Given the description of an element on the screen output the (x, y) to click on. 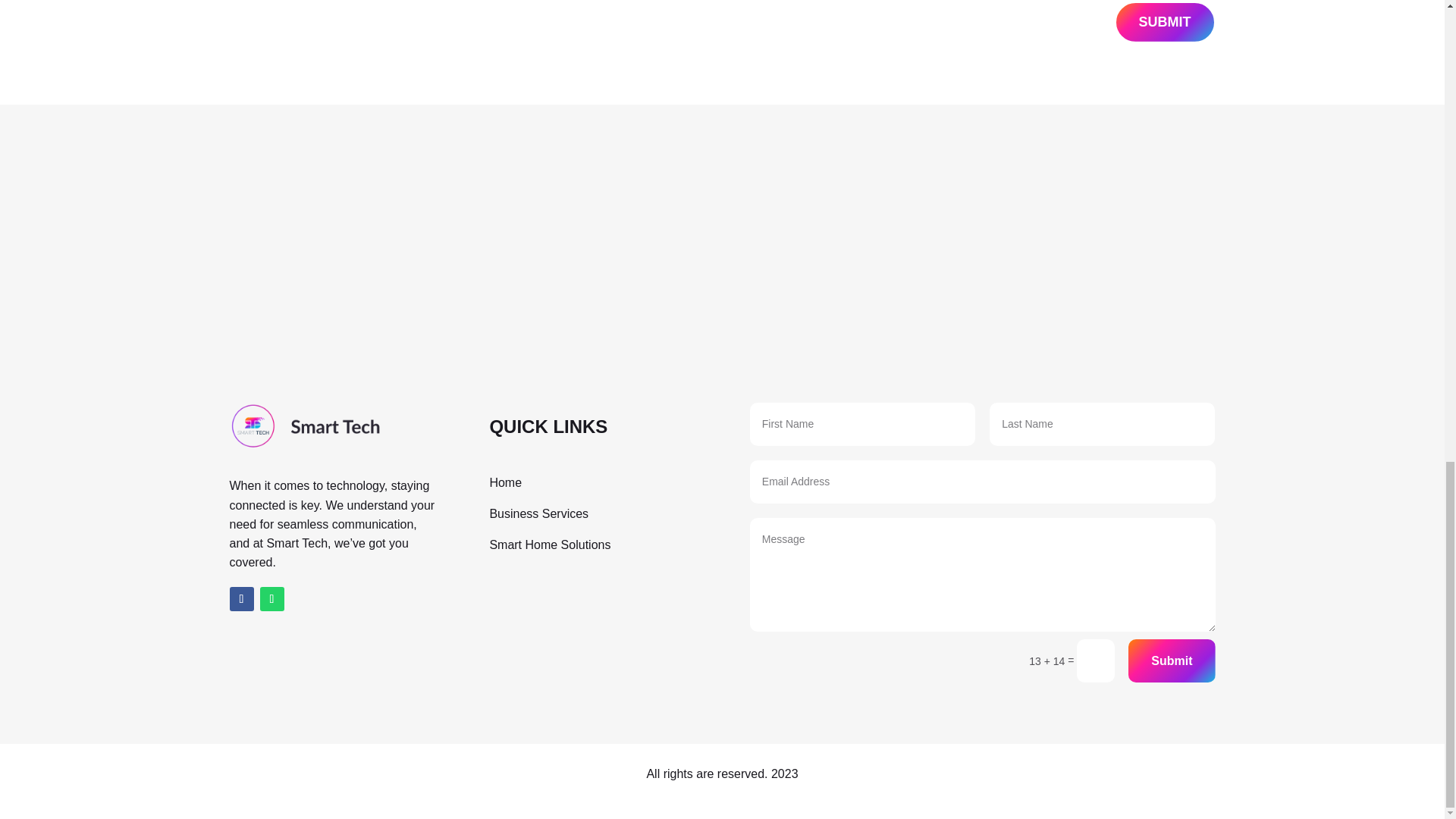
Home (505, 481)
SUBMIT (1165, 22)
footer-logo (304, 425)
Follow on Facebook (240, 598)
Business Services (538, 513)
Submit (1171, 660)
Smart Home Solutions (549, 544)
Follow on WhatsApp (271, 598)
